Given the description of an element on the screen output the (x, y) to click on. 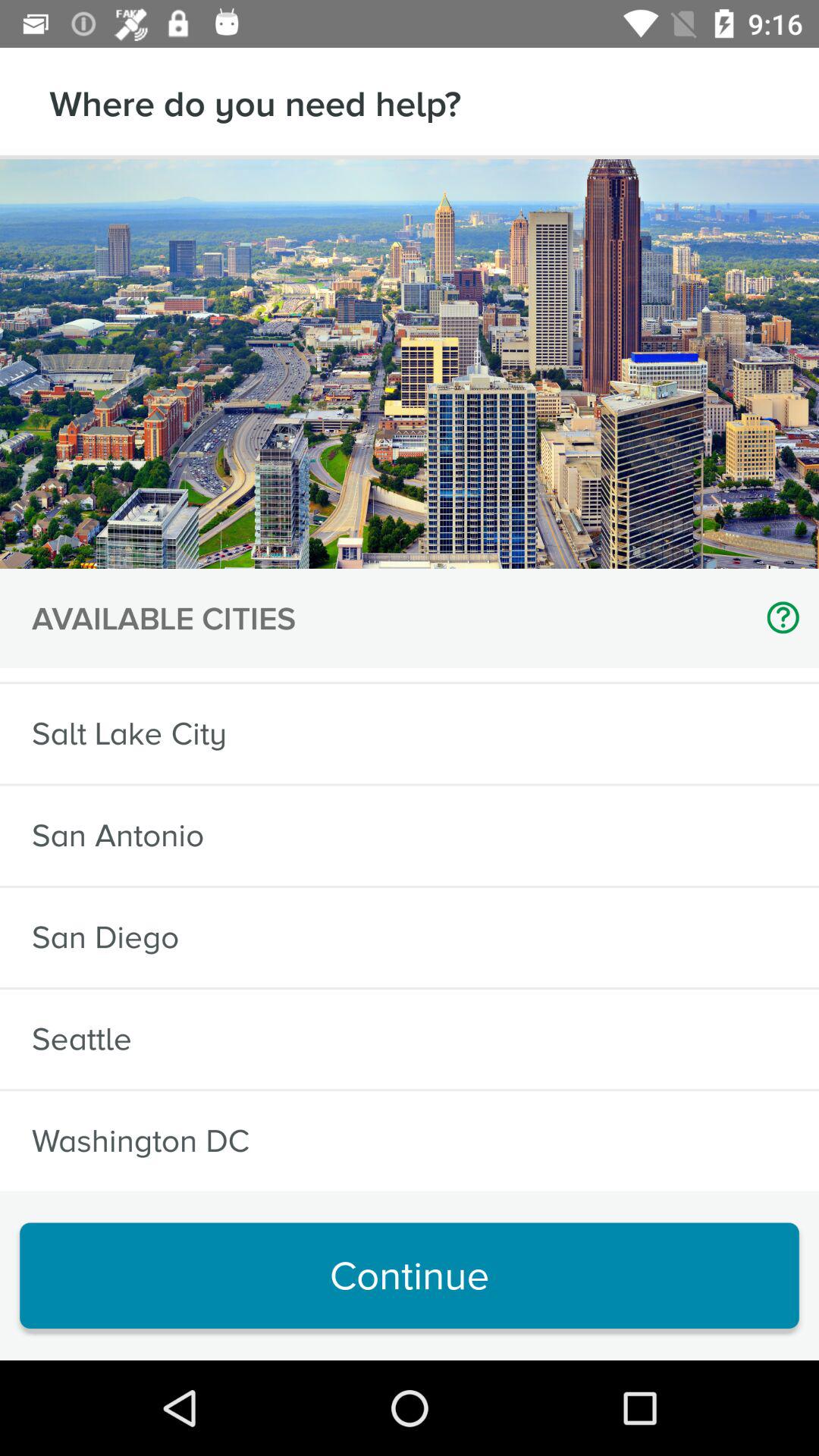
launch item above the san antonio item (128, 733)
